Given the description of an element on the screen output the (x, y) to click on. 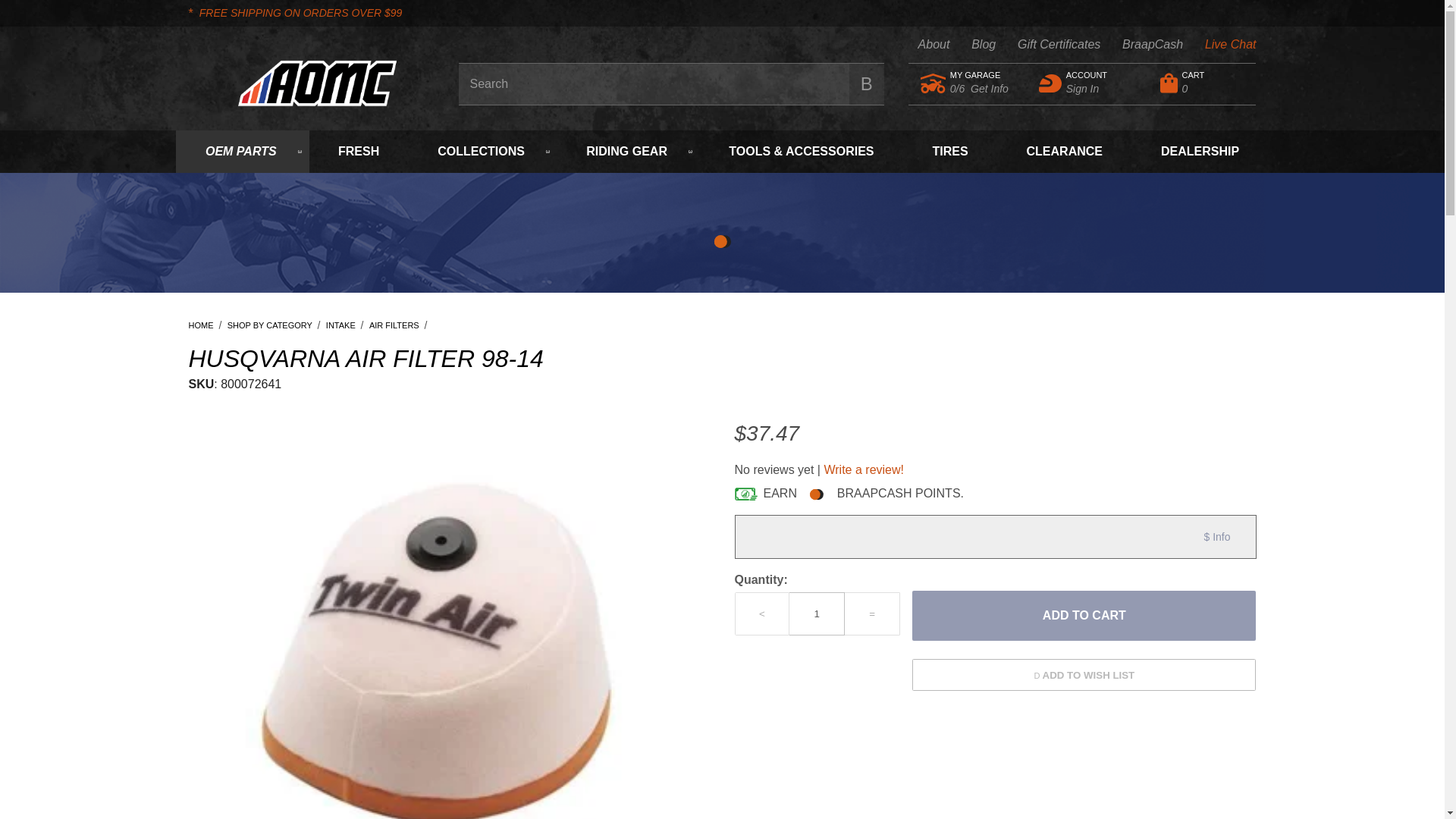
Get Info (1204, 82)
Add To Cart (990, 88)
BraapCash (1083, 615)
Sign In (1141, 45)
OEM PARTS (1030, 255)
MY GARAGE (242, 151)
Live Chat (979, 74)
Blog (1218, 45)
About (1088, 82)
Gift Certificates (972, 45)
1 (923, 45)
